Given the description of an element on the screen output the (x, y) to click on. 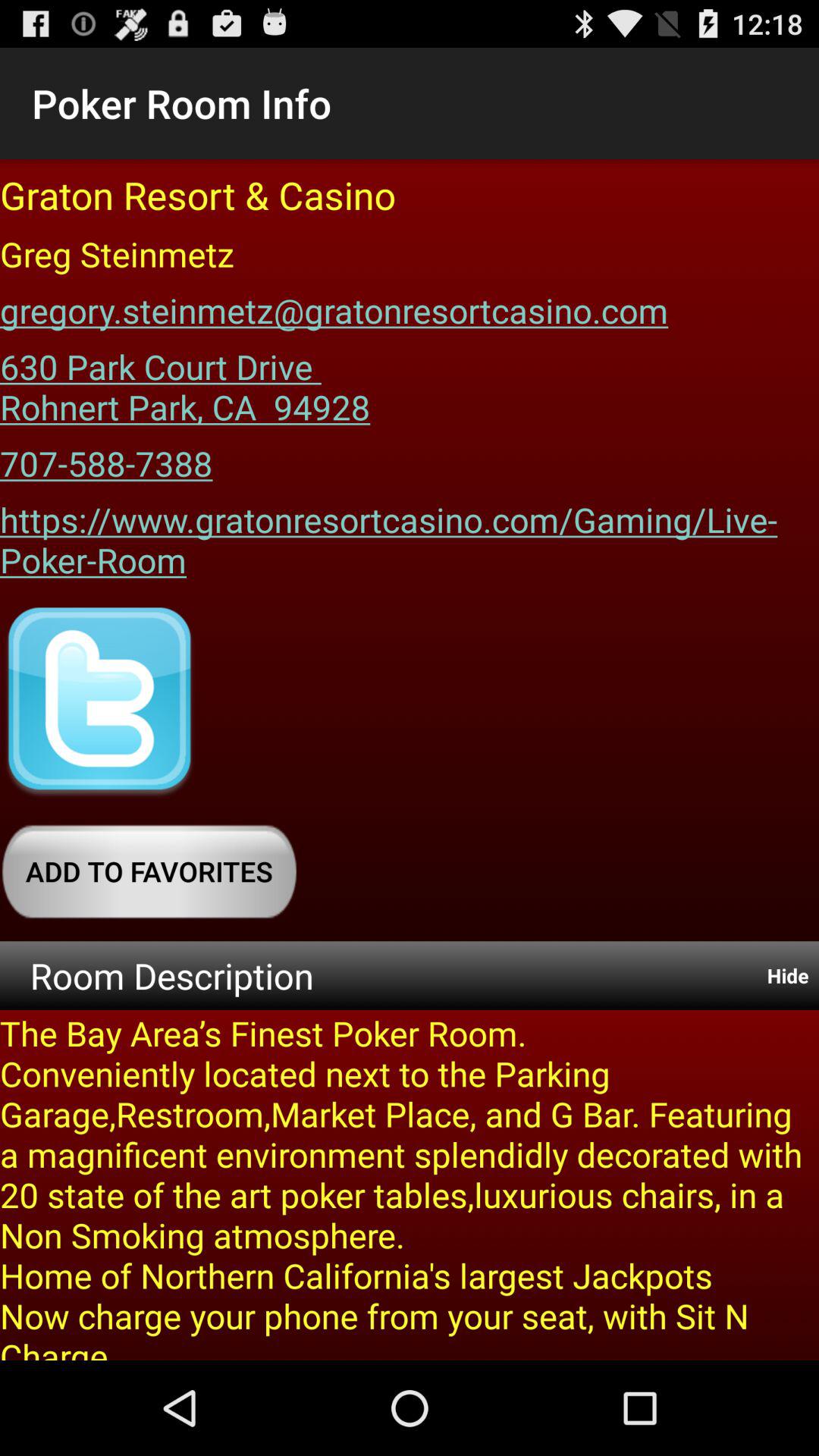
jump until the add to favorites (149, 871)
